Given the description of an element on the screen output the (x, y) to click on. 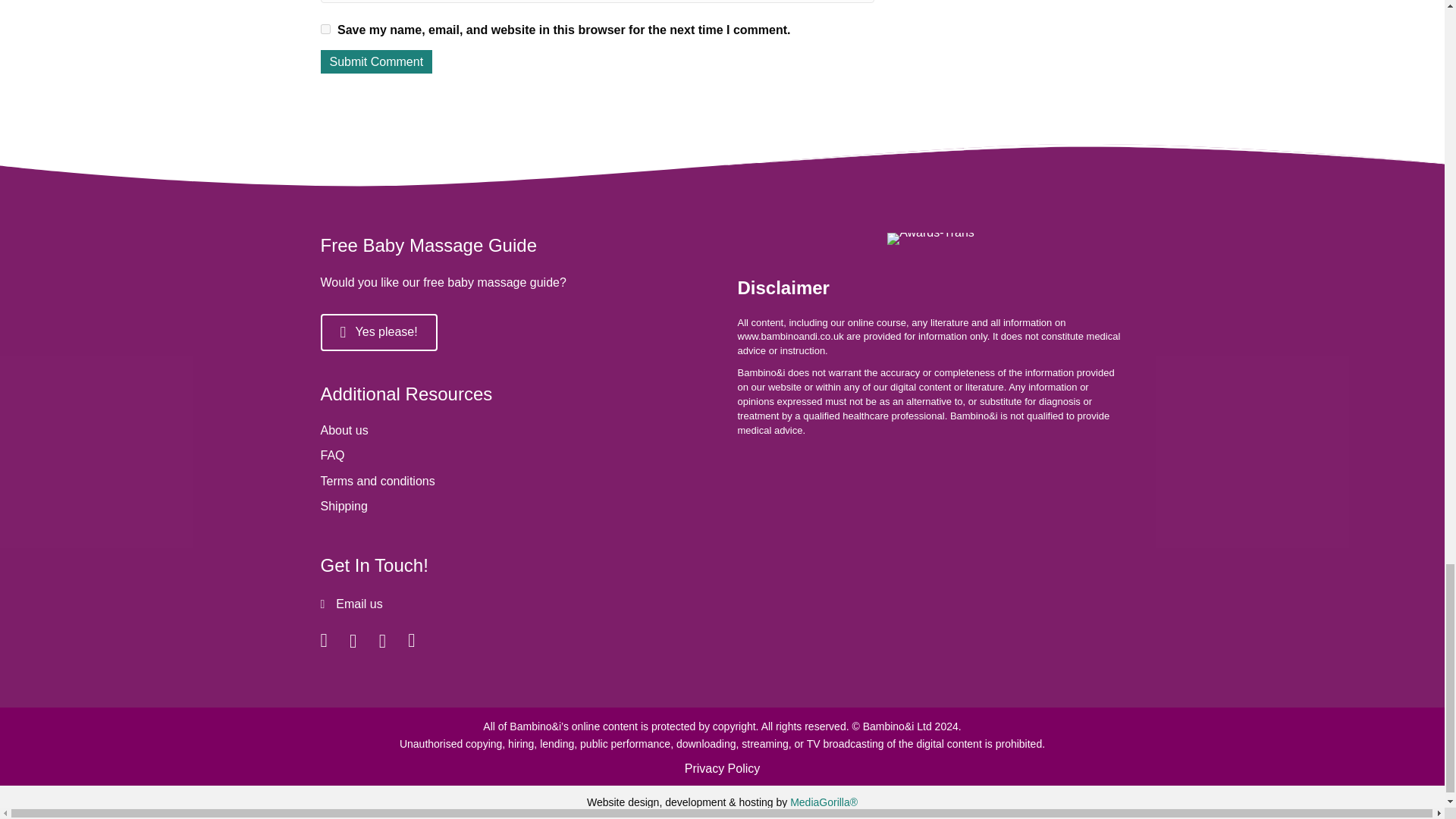
Submit Comment (376, 61)
yes (325, 29)
Submit Comment (376, 61)
